Given the description of an element on the screen output the (x, y) to click on. 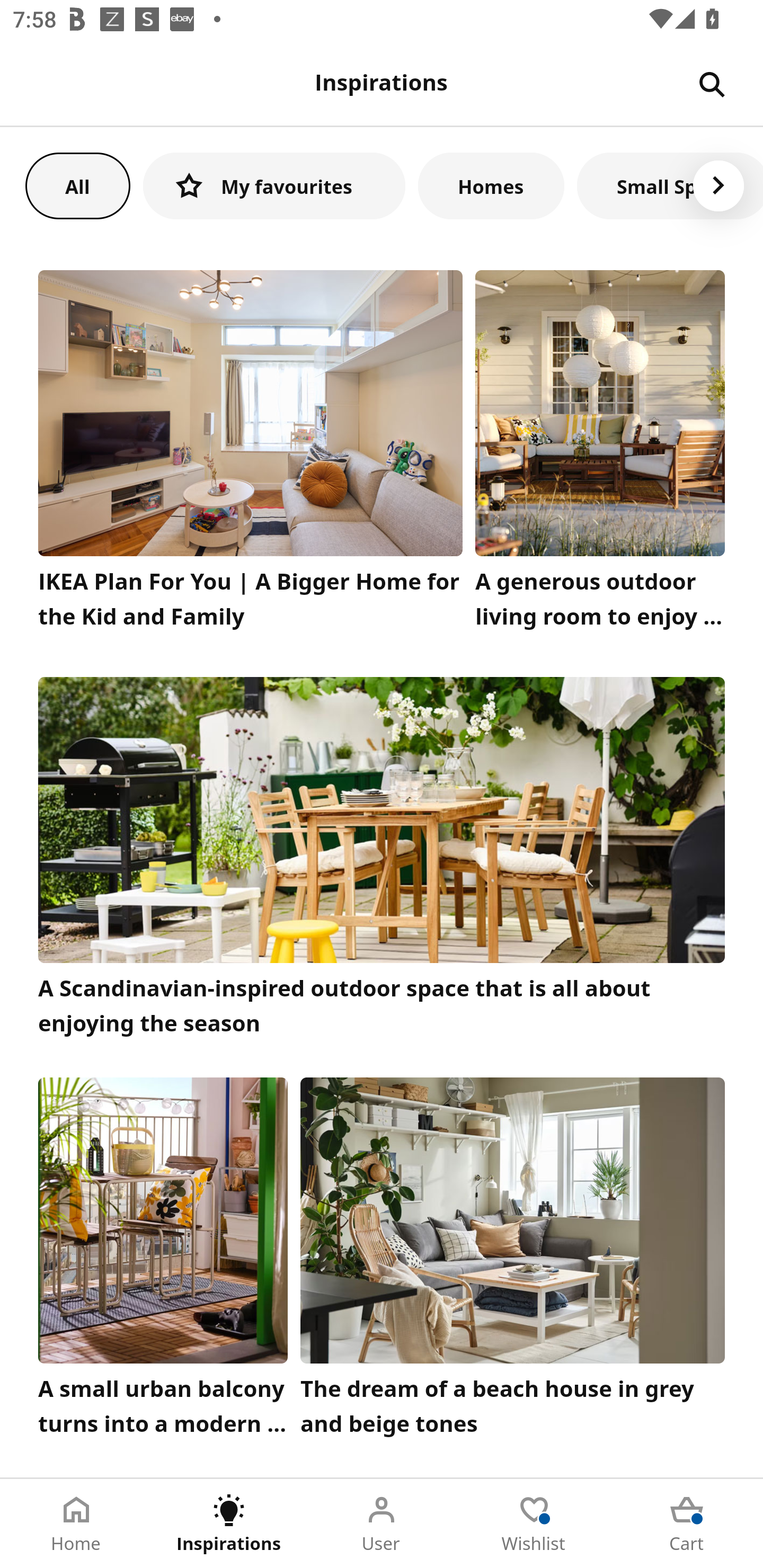
All (77, 185)
My favourites (274, 185)
Homes (491, 185)
Small Space (669, 185)
The dream of a beach house in grey and beige tones (512, 1261)
Home
Tab 1 of 5 (76, 1522)
Inspirations
Tab 2 of 5 (228, 1522)
User
Tab 3 of 5 (381, 1522)
Wishlist
Tab 4 of 5 (533, 1522)
Cart
Tab 5 of 5 (686, 1522)
